Given the description of an element on the screen output the (x, y) to click on. 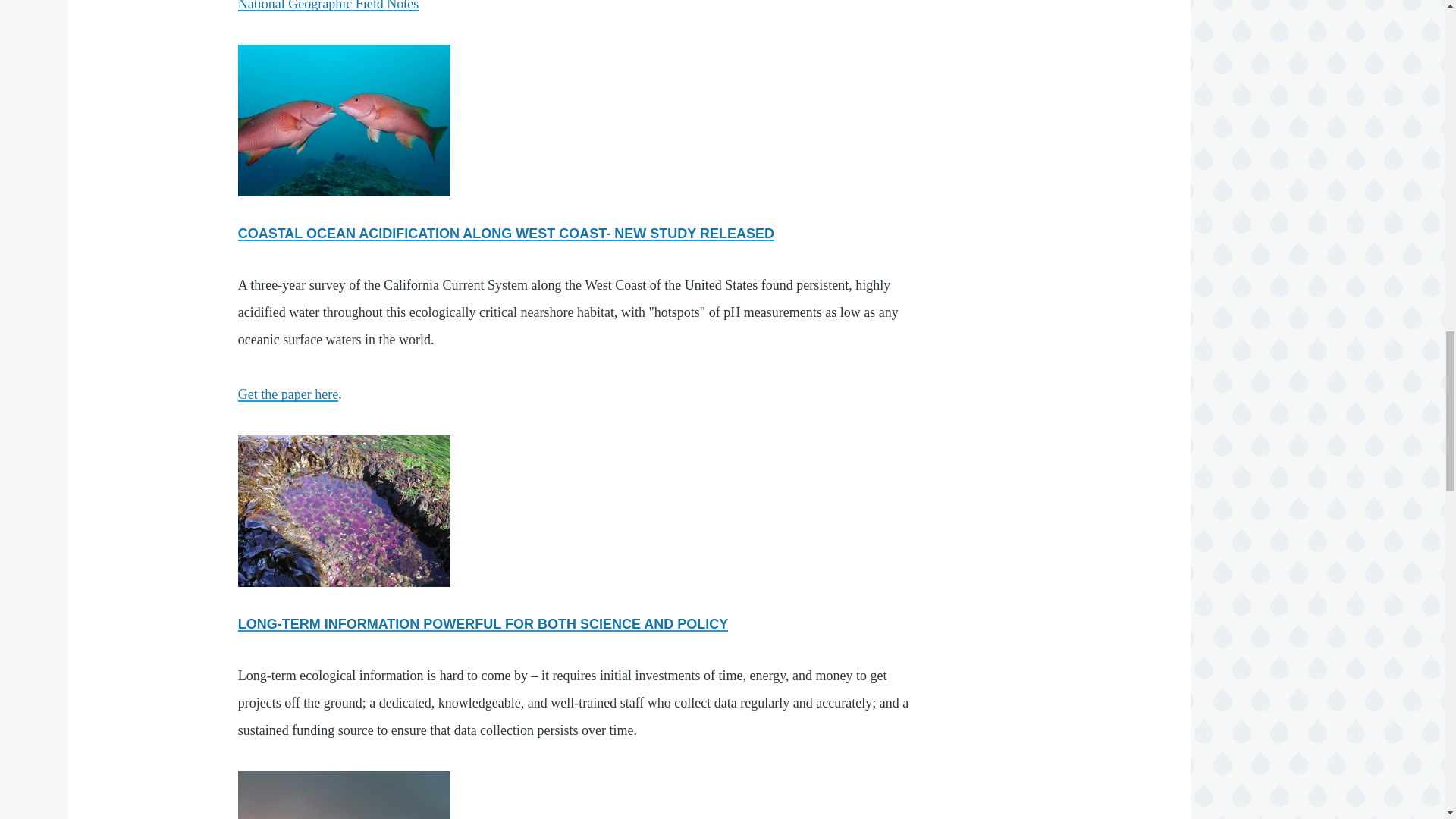
LONG-TERM INFORMATION POWERFUL FOR BOTH SCIENCE AND POLICY (483, 623)
Get the paper here (287, 394)
National Geographic Field Notes (328, 5)
